Given the description of an element on the screen output the (x, y) to click on. 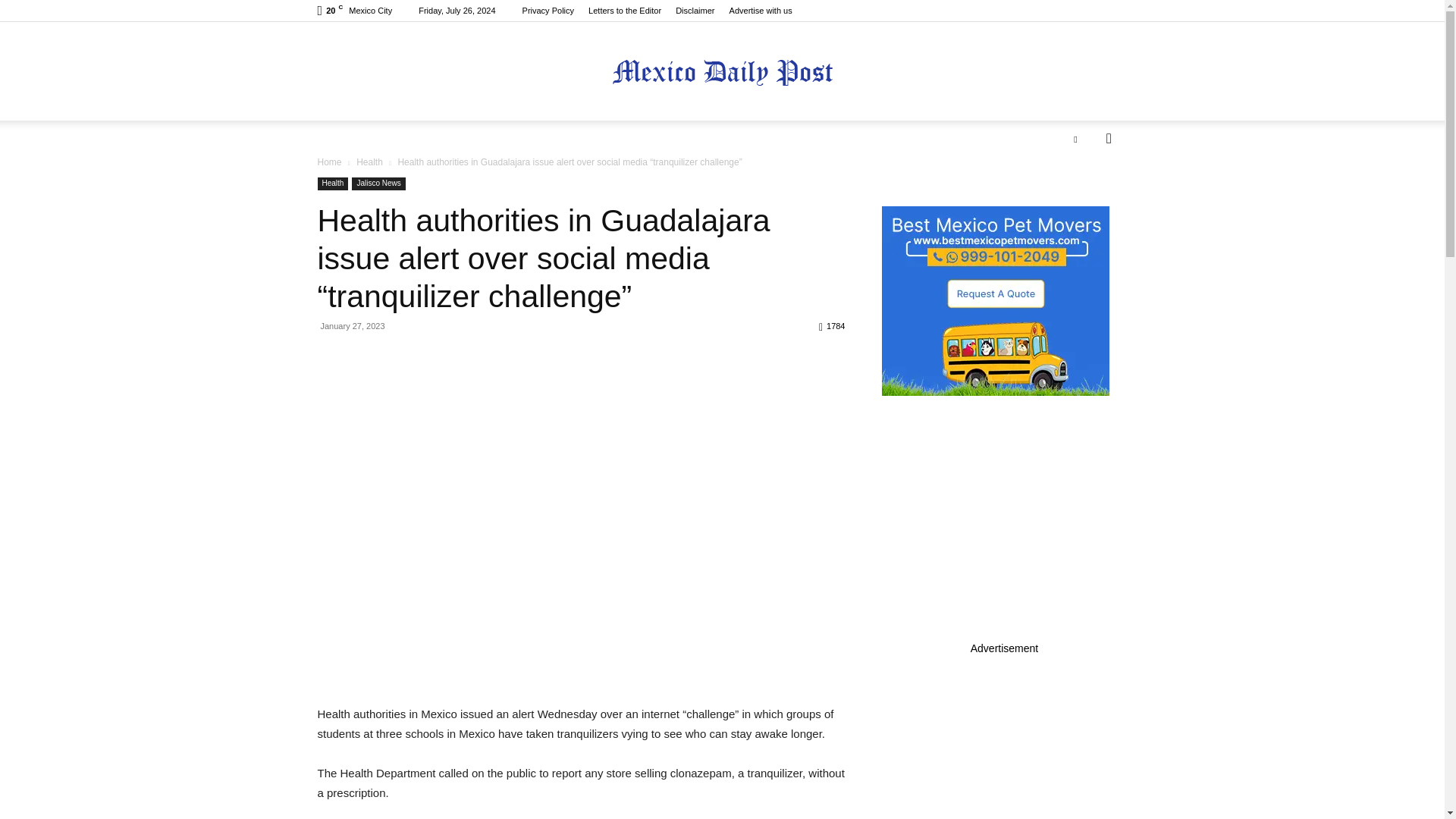
Health (369, 162)
View all posts in Health (369, 162)
Disclaimer (694, 10)
Mexico Daily Post (721, 72)
Letters to the Editor (624, 10)
Advertise with us (760, 10)
Health (332, 183)
Privacy Policy (547, 10)
Search (1085, 199)
Home (328, 162)
Jalisco News (378, 183)
